Given the description of an element on the screen output the (x, y) to click on. 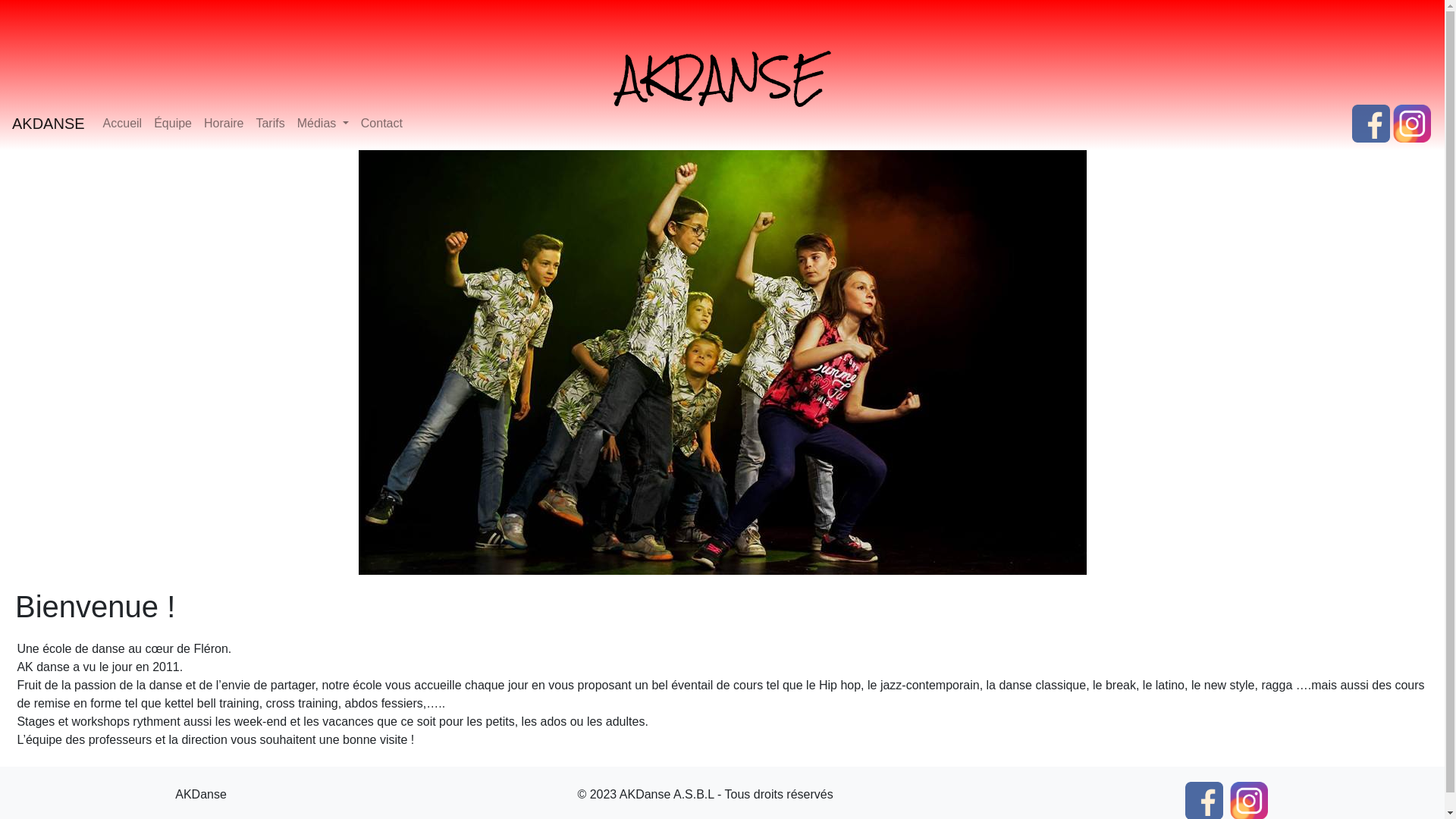
Previous Element type: text (108, 362)
AKDANSE Element type: text (722, 76)
AKDANSE Element type: text (48, 123)
Horaire Element type: text (223, 123)
Next Element type: text (1335, 362)
Contact Element type: text (381, 123)
Tarifs Element type: text (269, 123)
Accueil Element type: text (122, 123)
